Given the description of an element on the screen output the (x, y) to click on. 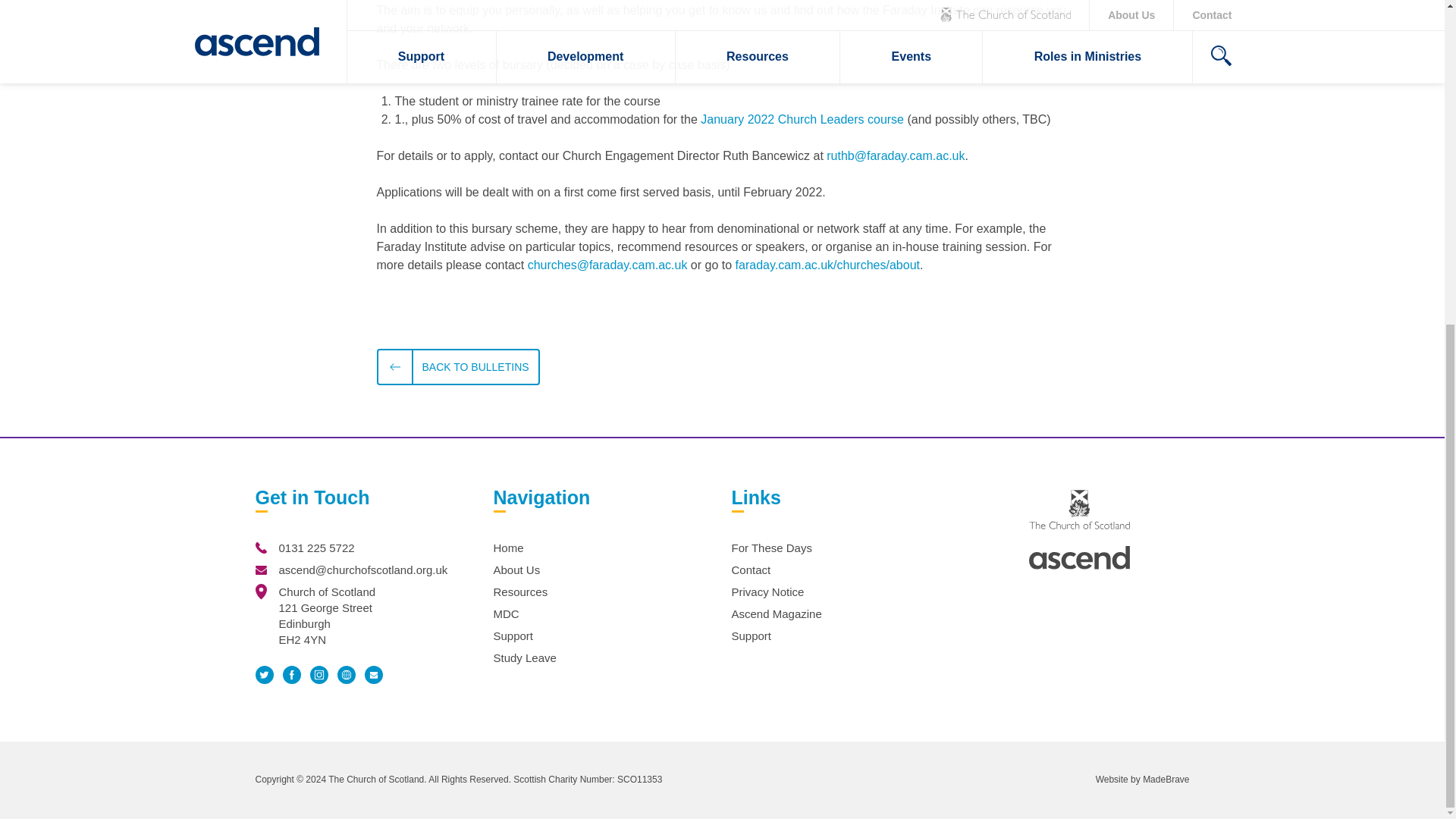
Call us (260, 547)
Twitter (264, 674)
Email (373, 674)
BACK TO BULLETINS (456, 366)
January 2022 Church Leaders course (802, 119)
0131 225 5722 (317, 548)
church-of-scotland-learning.circle.so (345, 675)
Email us (260, 569)
Church of Scotland (1079, 509)
Ascend Logo (1079, 557)
